Given the description of an element on the screen output the (x, y) to click on. 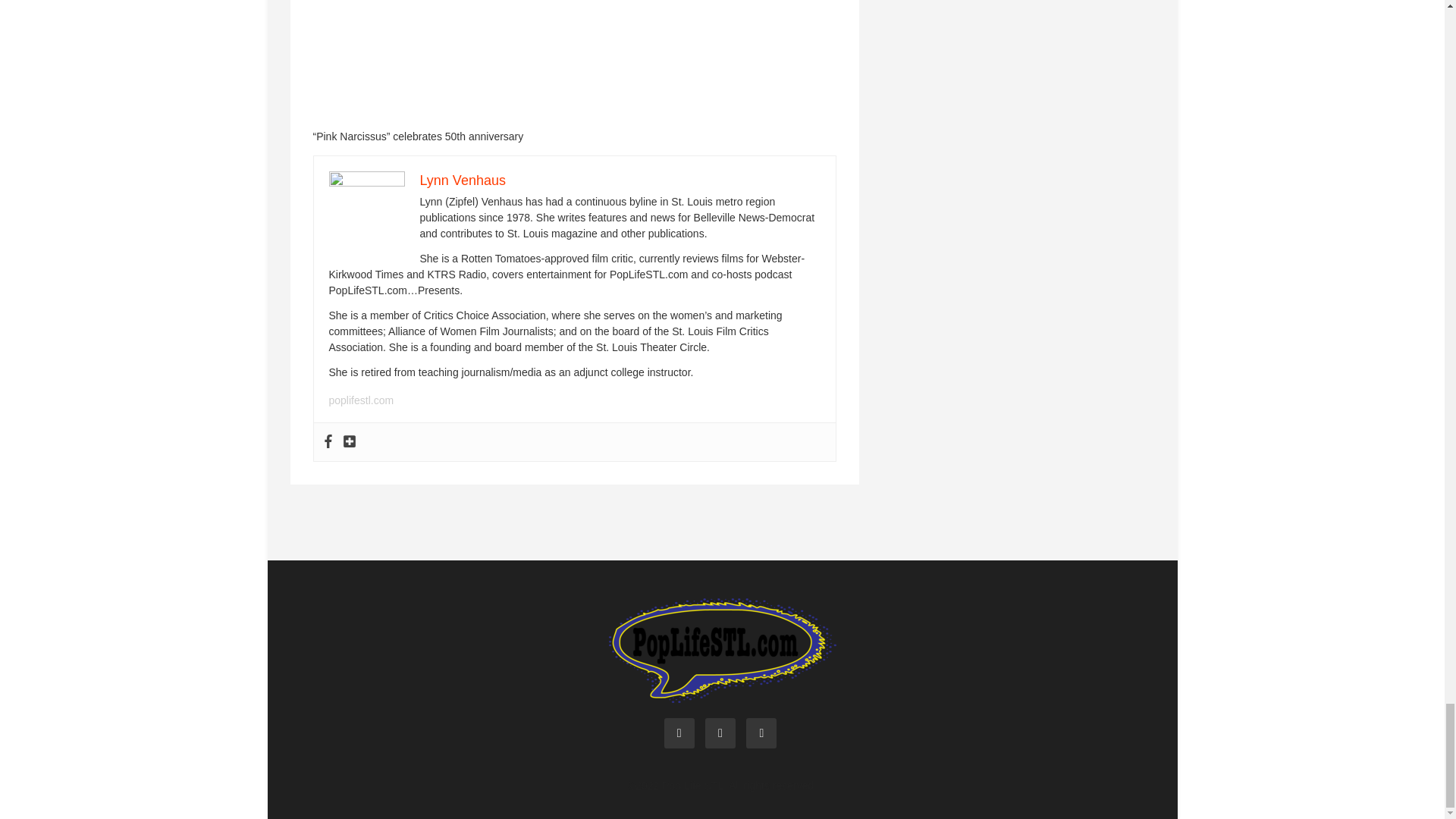
Facebook (327, 441)
Pop Life STL (721, 649)
Addthis (349, 441)
